Given the description of an element on the screen output the (x, y) to click on. 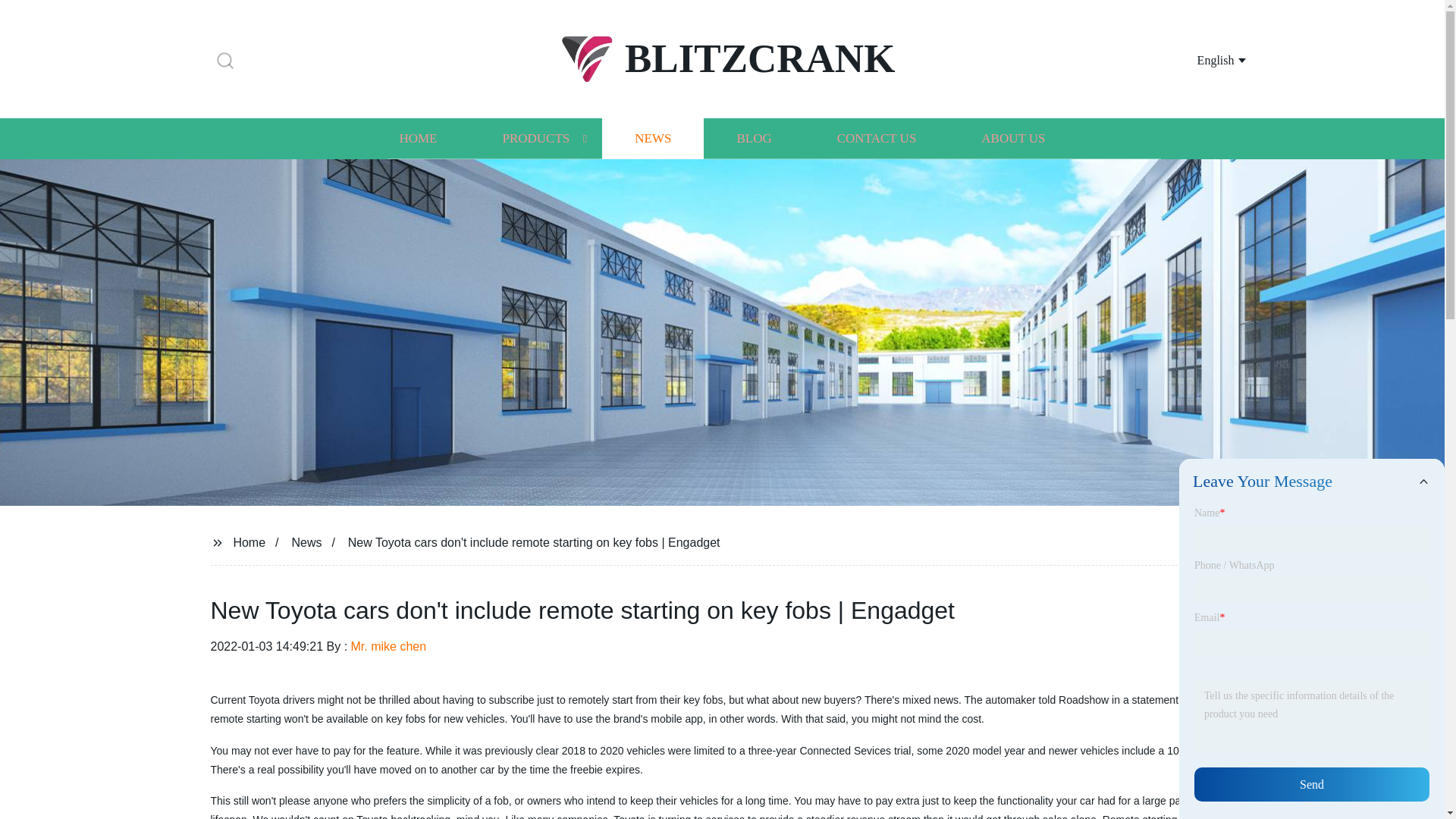
NEWS (652, 137)
PRODUCTS (535, 137)
English (1203, 59)
Top (1404, 778)
Home (248, 541)
BLOG (753, 137)
News (306, 541)
English (1203, 59)
CONTACT US (877, 137)
ABOUT US (1013, 137)
HOME (417, 137)
